Given the description of an element on the screen output the (x, y) to click on. 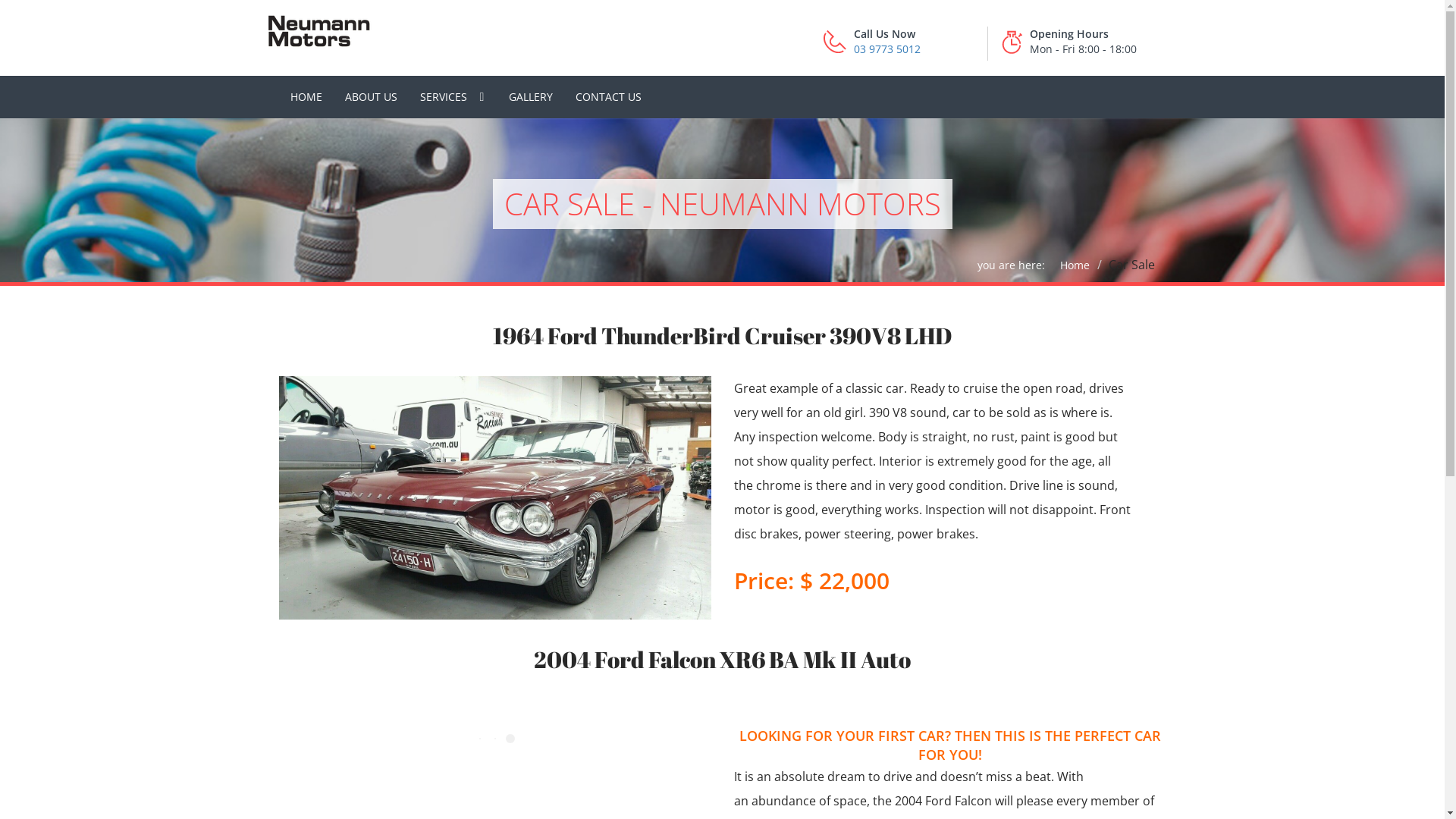
CONTACT US Element type: text (608, 96)
SERVICES Element type: text (451, 96)
03 9773 5012 Element type: text (886, 48)
ABOUT US Element type: text (370, 96)
HOME Element type: text (306, 96)
Home Element type: text (1074, 265)
GALLERY Element type: text (530, 96)
